Given the description of an element on the screen output the (x, y) to click on. 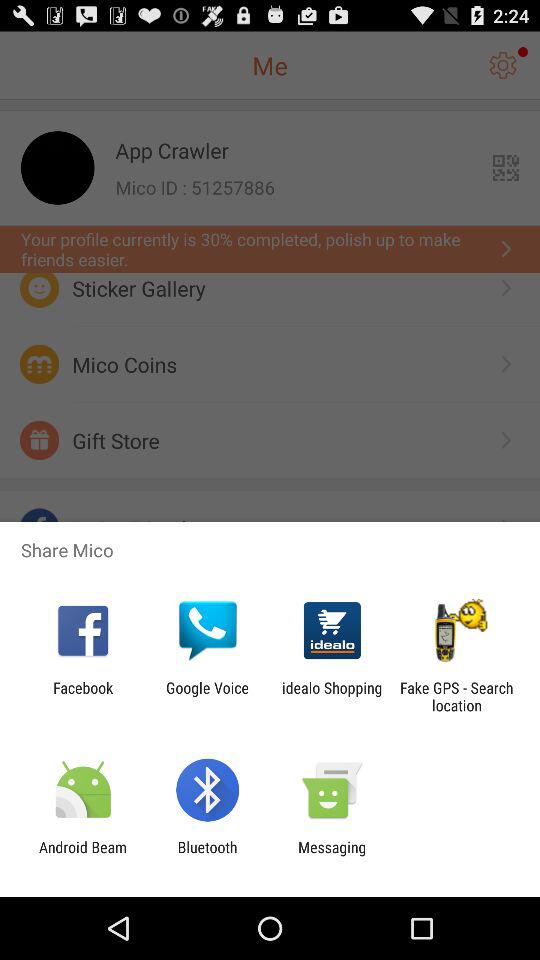
turn on the item next to the bluetooth app (83, 856)
